Given the description of an element on the screen output the (x, y) to click on. 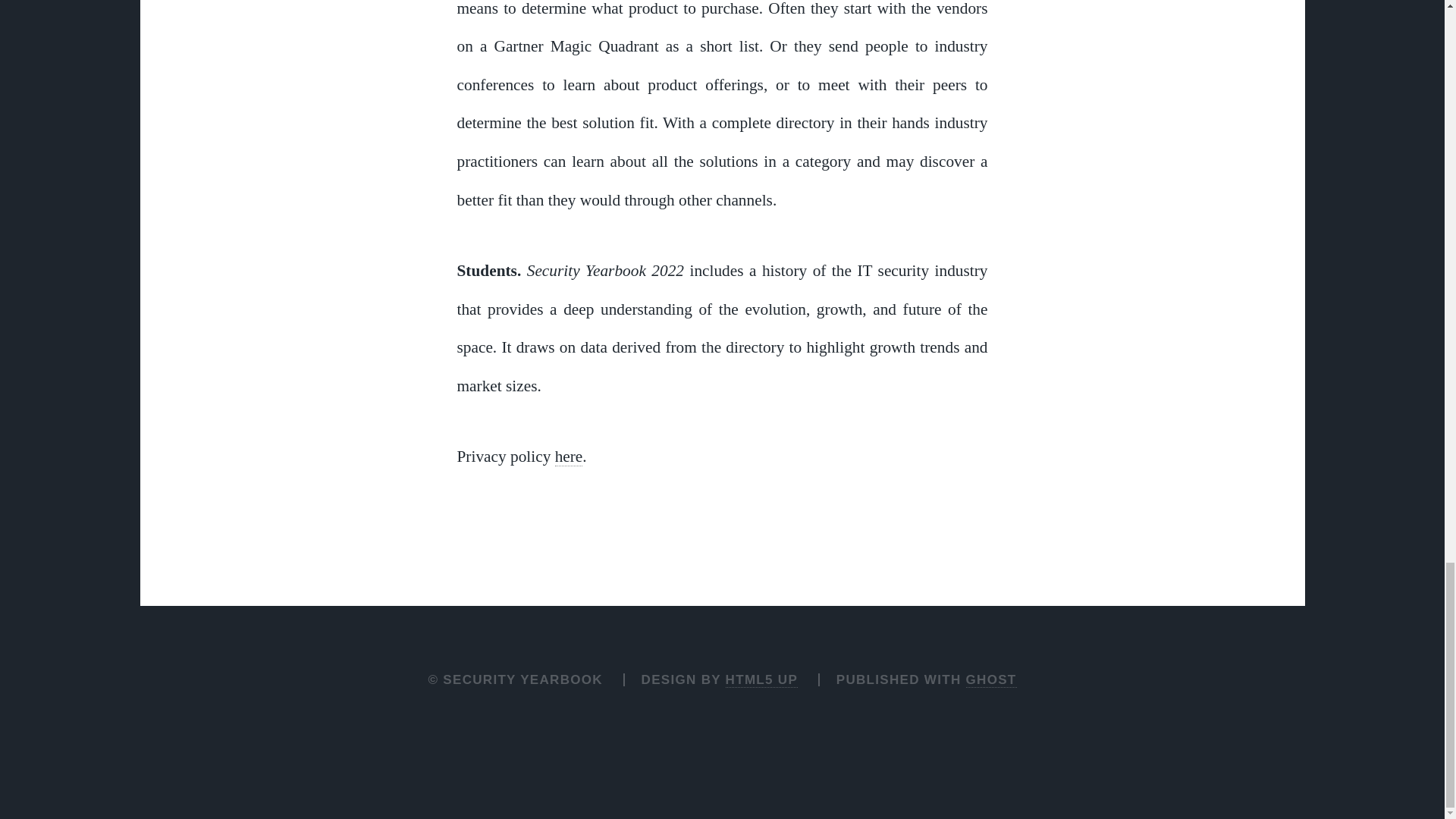
here (568, 456)
HTML5 UP (761, 679)
GHOST (991, 679)
